Given the description of an element on the screen output the (x, y) to click on. 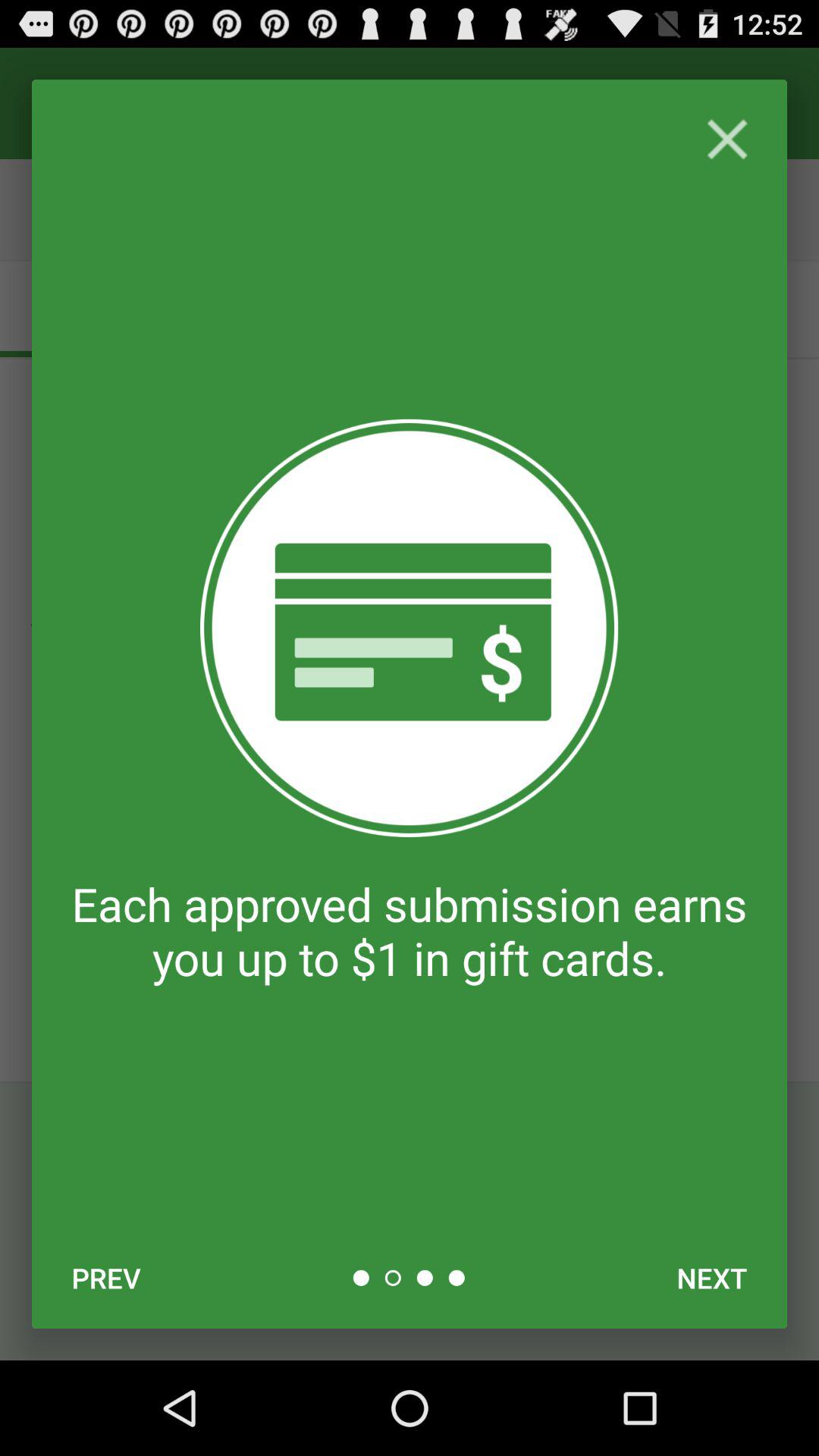
close page (727, 139)
